Given the description of an element on the screen output the (x, y) to click on. 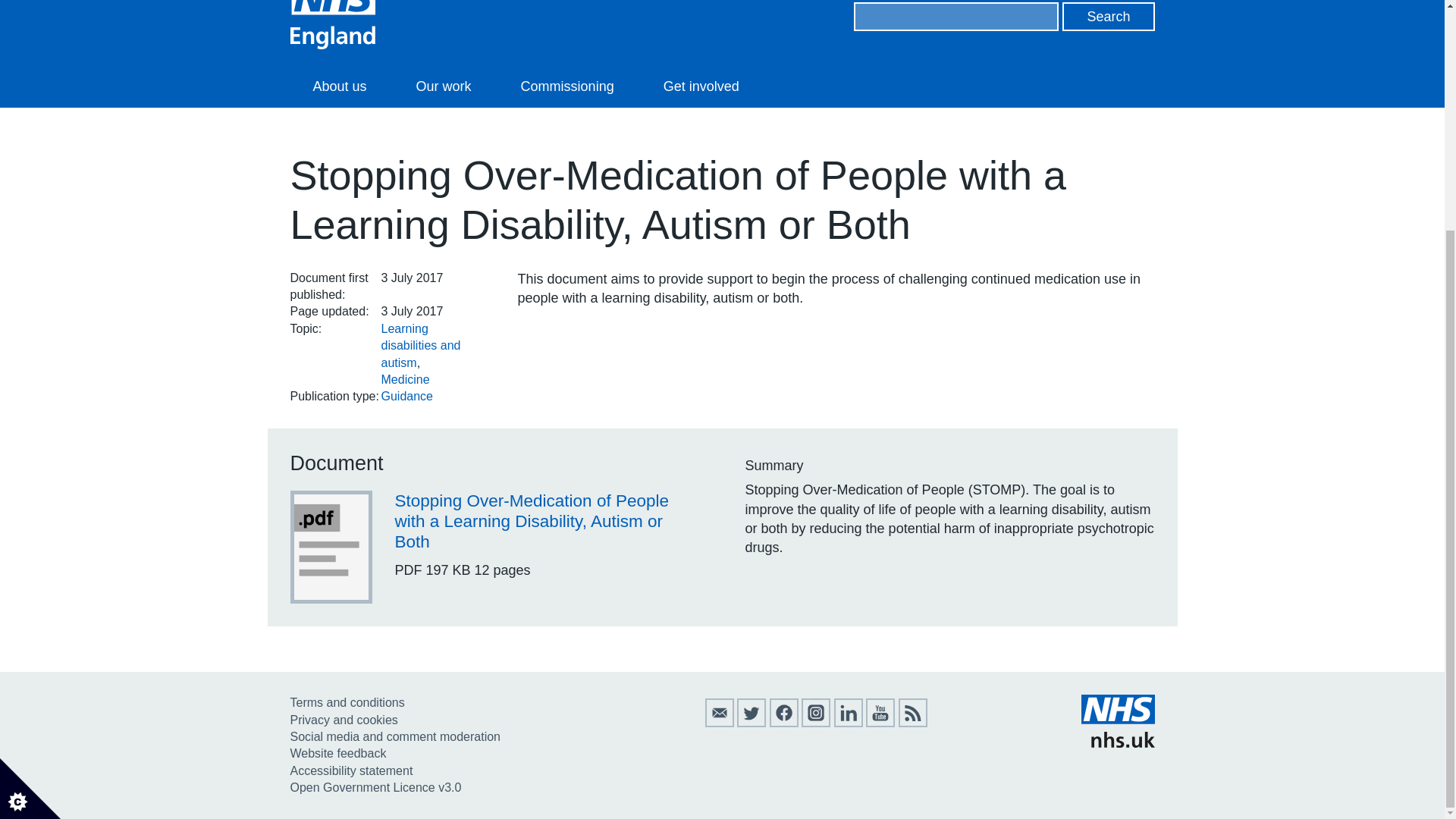
Learning disabilities and autism (420, 345)
Our work (444, 86)
Sign up to our email bulletins (718, 722)
Search (1108, 16)
Cookie Control Icon (30, 477)
Find us on Instagram (815, 722)
Terms and conditions (346, 702)
Accessibility statement (350, 770)
Social media and comment moderation (394, 736)
Website feedback (337, 753)
Guidance (406, 395)
Search (1108, 16)
Privacy and cookies (343, 718)
Get involved (700, 86)
